Given the description of an element on the screen output the (x, y) to click on. 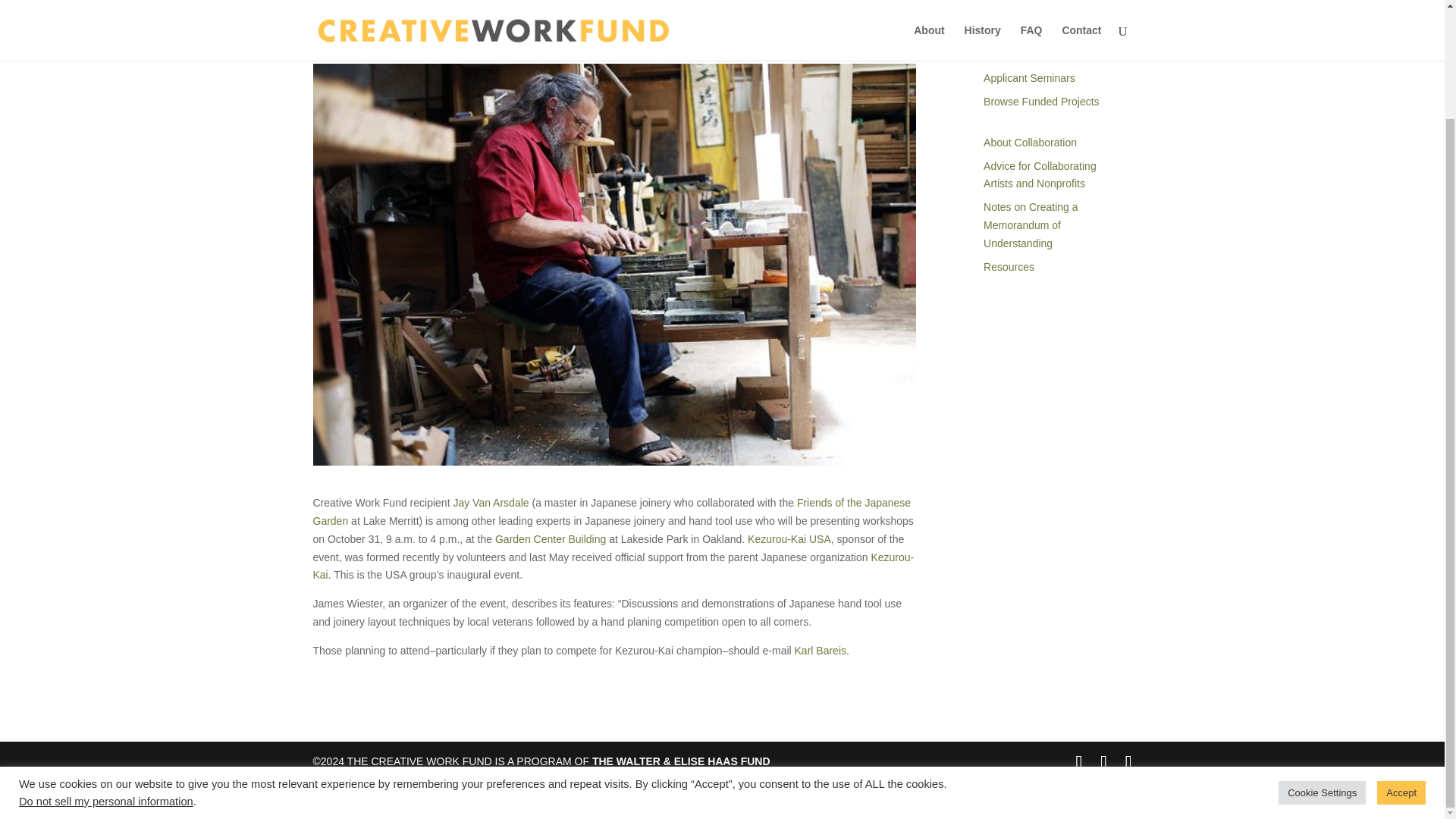
Jay Van Arsdale (490, 502)
Karl Bareis (819, 650)
Kezurou-Kai (613, 566)
Grant Guidelines (1023, 8)
Applicant Seminars (1029, 78)
Kezurou-Kai USA (789, 539)
Accept (1401, 664)
Do not sell my personal information (105, 673)
How to Apply (1014, 31)
